Given the description of an element on the screen output the (x, y) to click on. 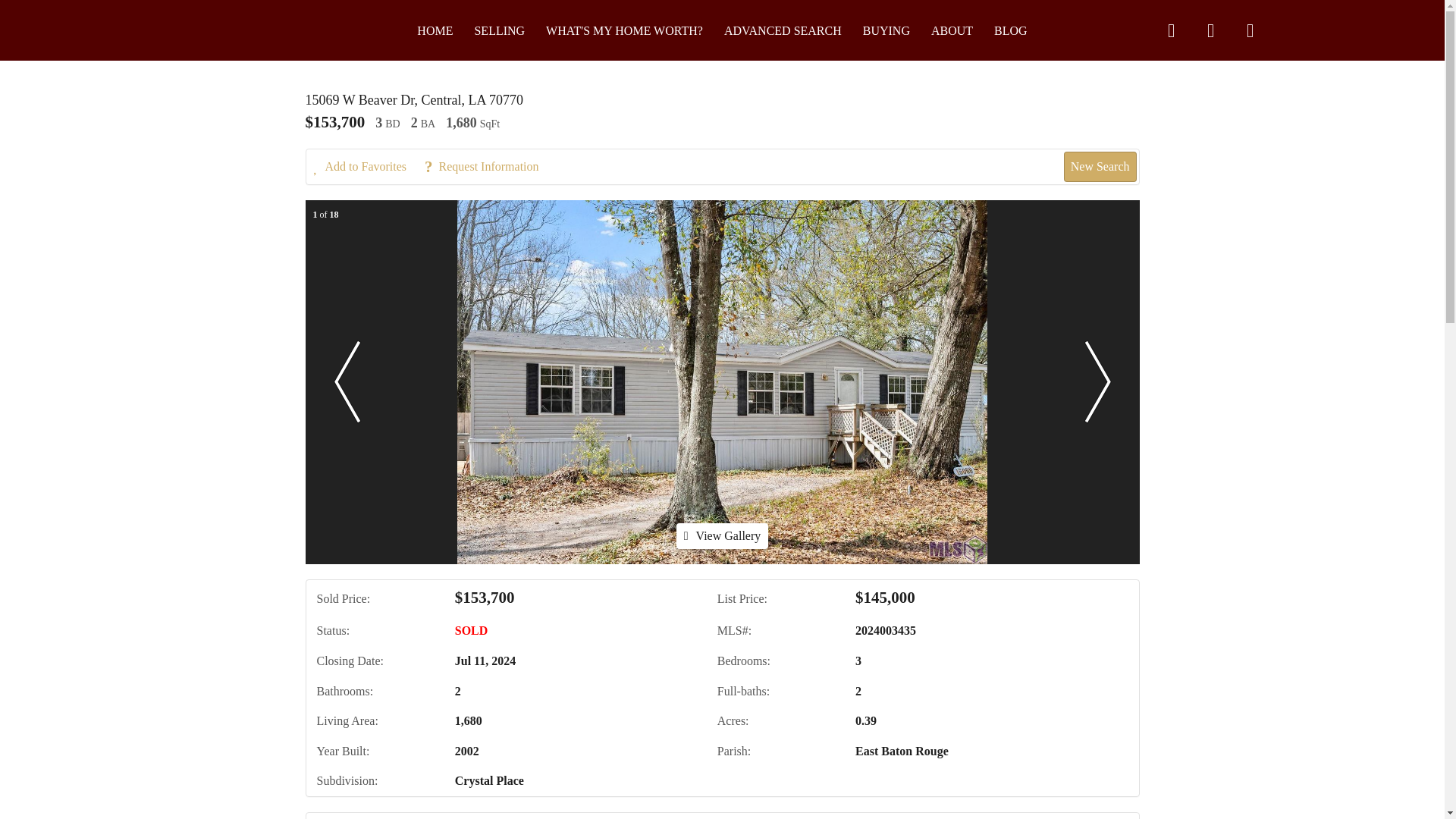
WHAT'S MY HOME WORTH? (624, 30)
BUYING (886, 30)
View Gallery (722, 535)
SELLING (499, 30)
ADVANCED SEARCH (782, 30)
ABOUT (951, 30)
Add to Favorites (368, 166)
New Search (1100, 166)
Request Information (489, 166)
HOME (434, 30)
View Gallery (722, 535)
BLOG (1010, 30)
